Given the description of an element on the screen output the (x, y) to click on. 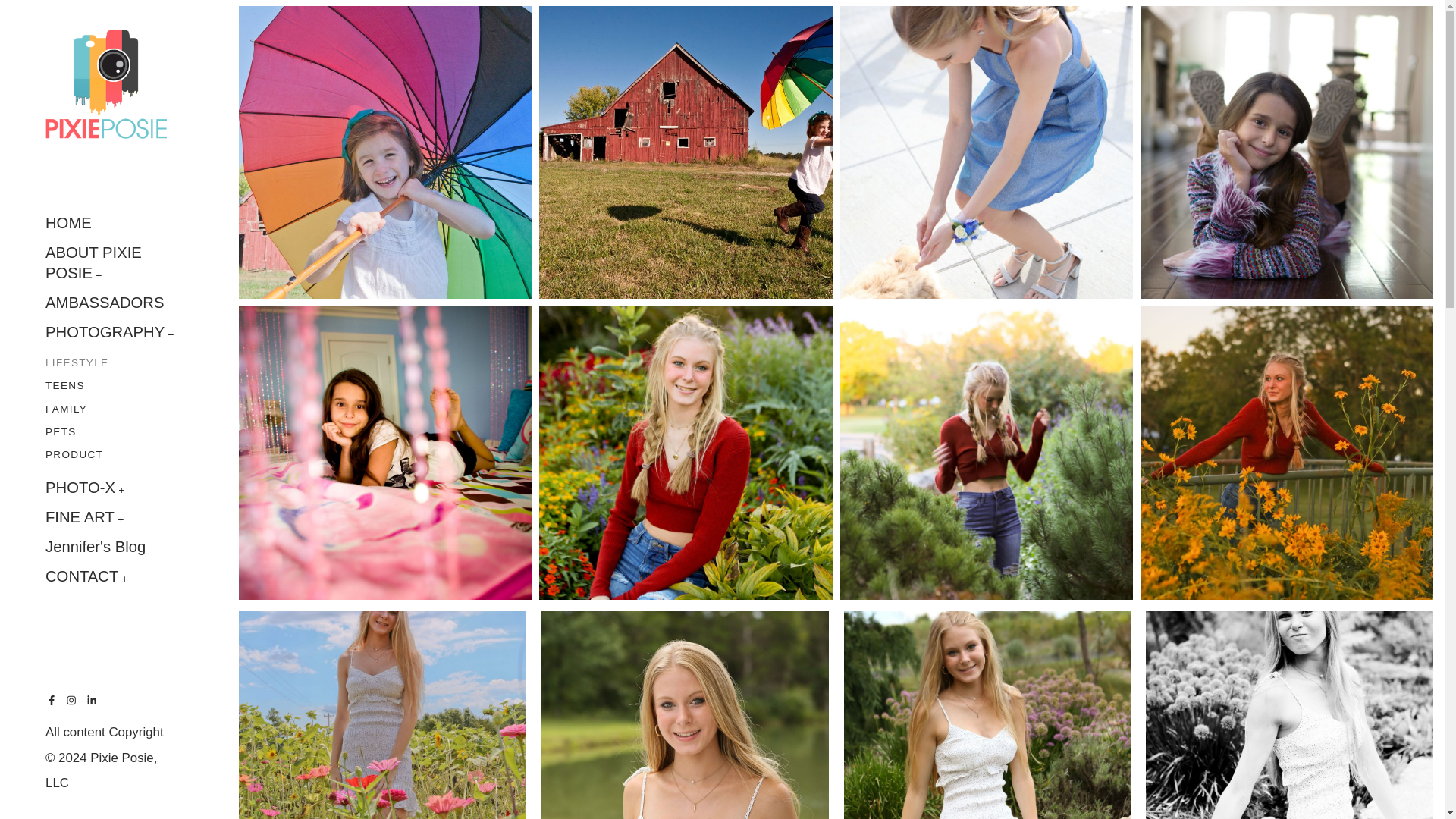
TEENS (64, 385)
LIFESTYLE (76, 361)
HOME (68, 226)
FAMILY (66, 409)
ABOUT PIXIE POSIE (93, 262)
AMBASSADORS (104, 302)
PRODUCT (74, 458)
PHOTOGRAPHY (104, 332)
PETS (61, 431)
